Given the description of an element on the screen output the (x, y) to click on. 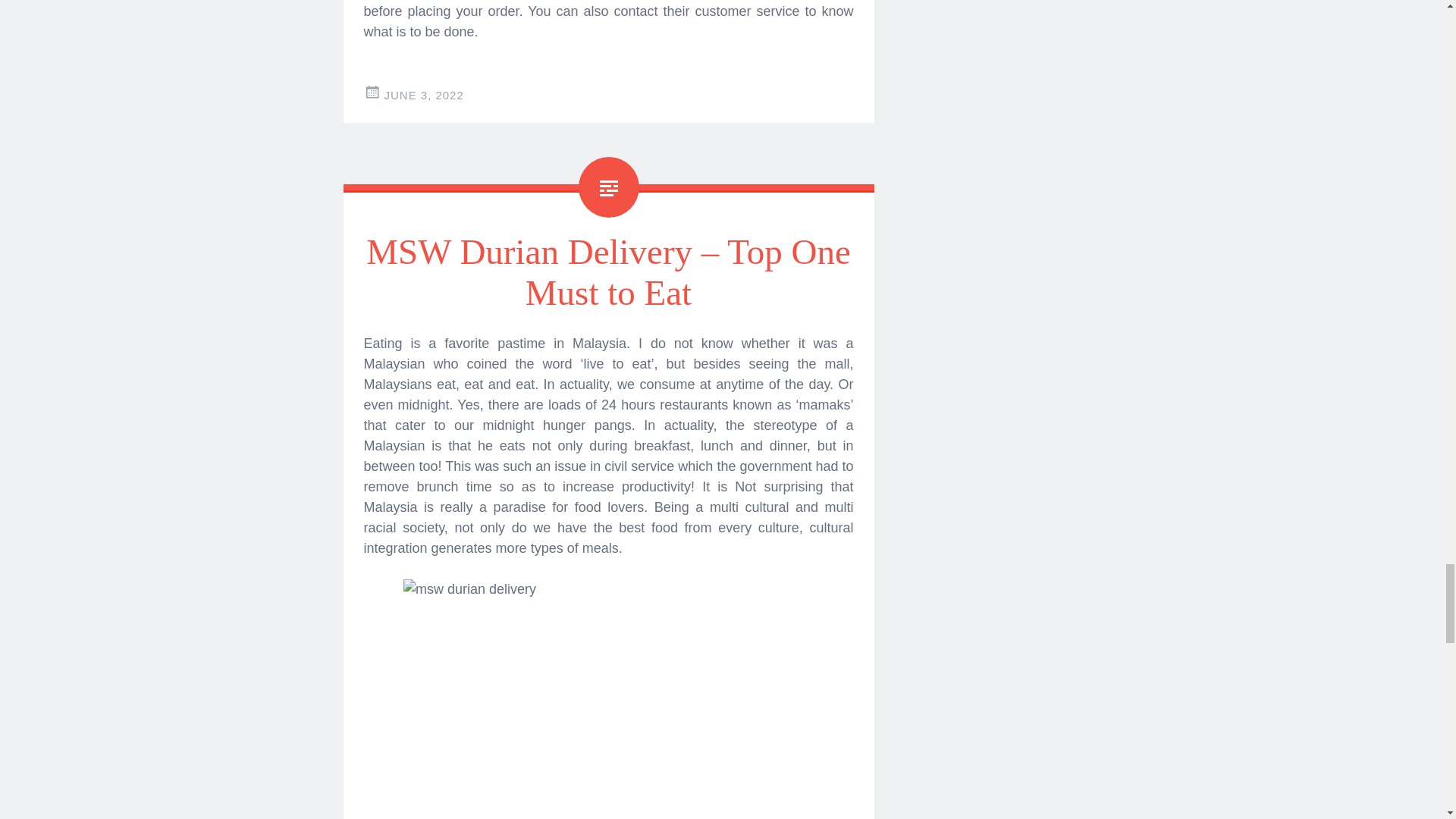
12:04 pm (423, 94)
